Given the description of an element on the screen output the (x, y) to click on. 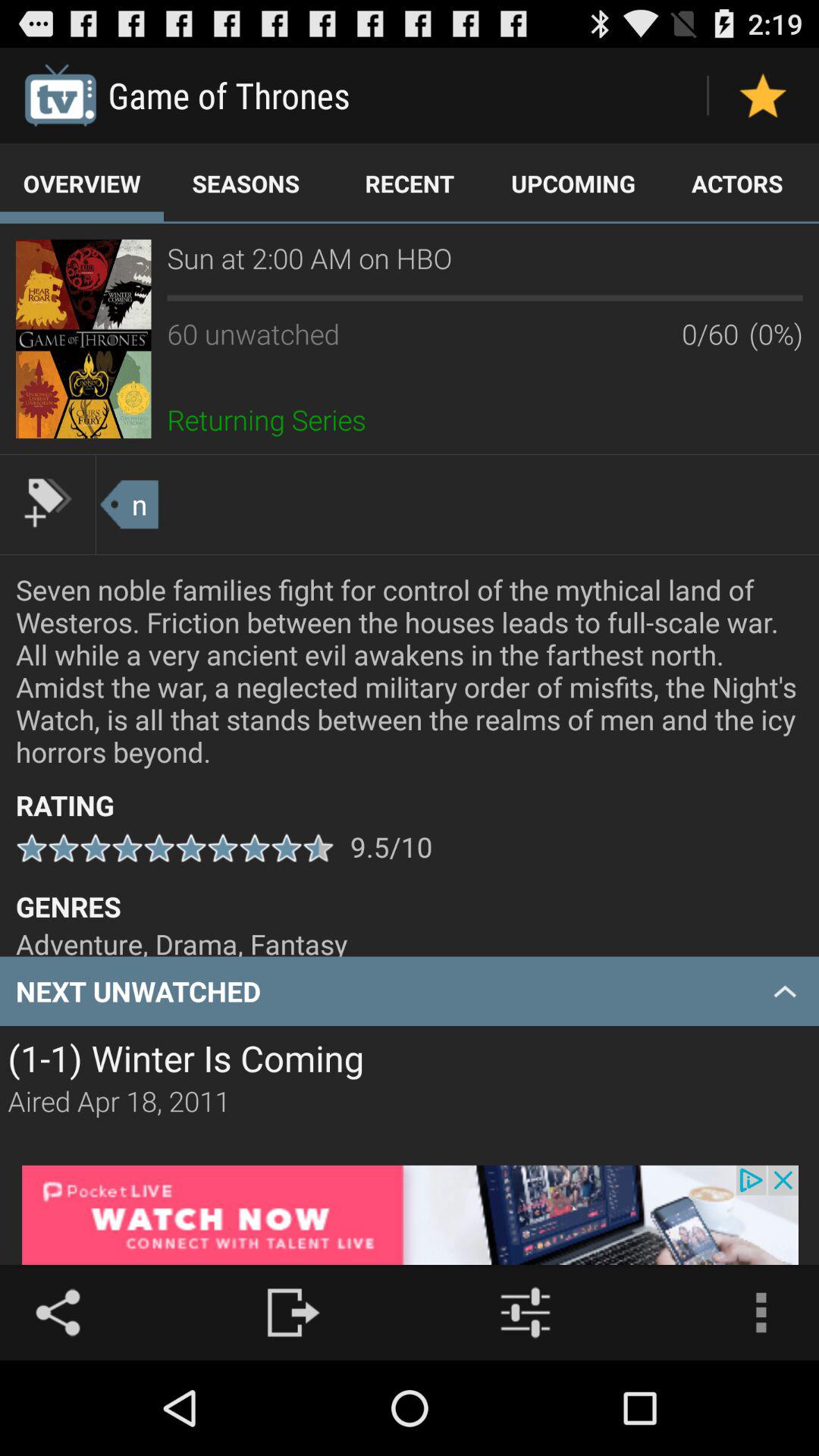
game of thrones series cover art (83, 338)
